Given the description of an element on the screen output the (x, y) to click on. 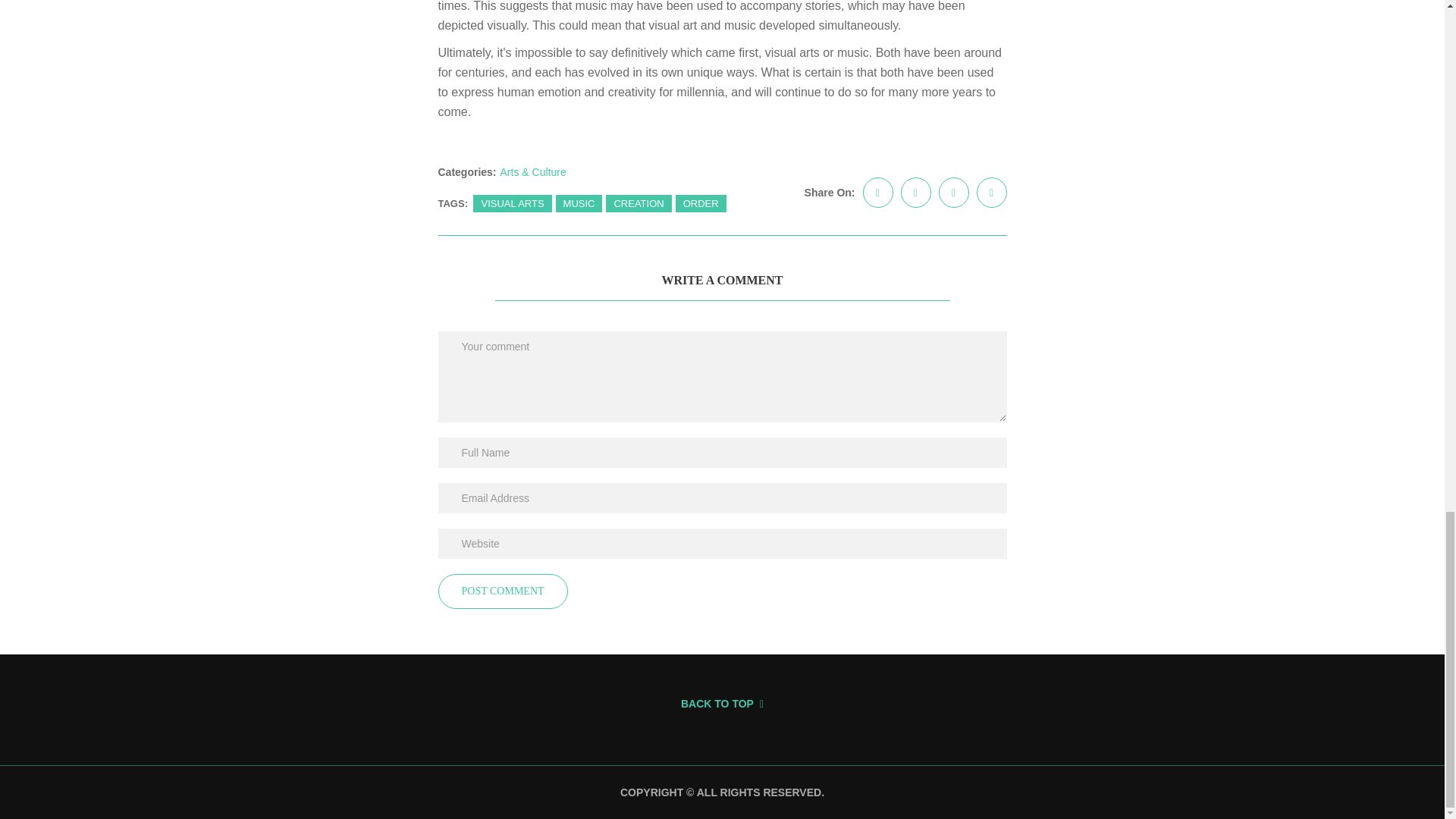
POST COMMENT (502, 591)
Share on Facebook (878, 192)
Share on Reddit (991, 192)
ORDER (700, 203)
BACK TO TOP (721, 703)
VISUAL ARTS (512, 203)
Share on Twitter (916, 192)
CREATION (638, 203)
Share on Linkedin (954, 192)
MUSIC (579, 203)
